Given the description of an element on the screen output the (x, y) to click on. 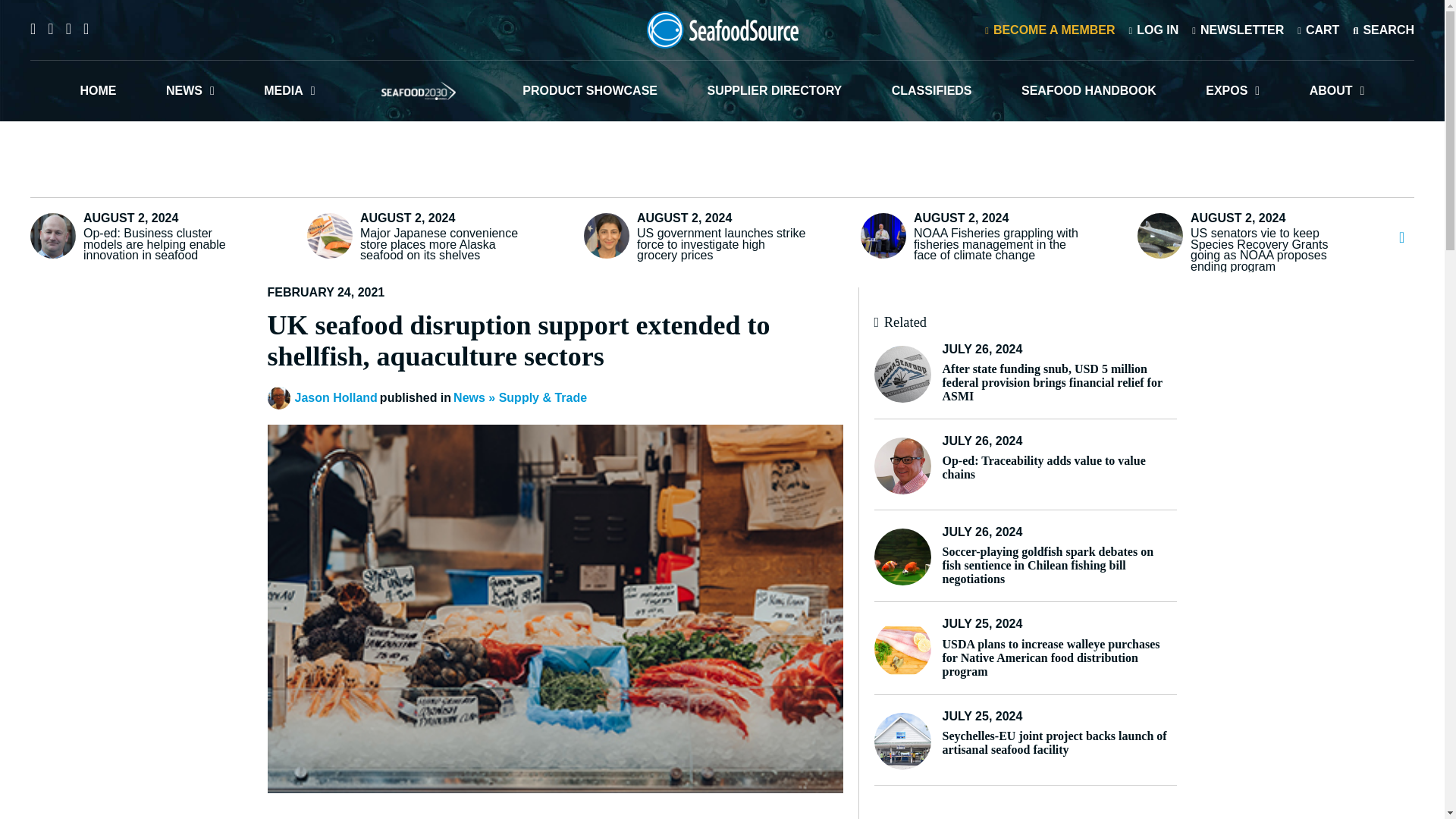
PRODUCT SHOWCASE (590, 90)
LOG IN (1152, 29)
SUPPLIER DIRECTORY (773, 90)
Search SearfoodSource (1382, 29)
SEARCH (1382, 29)
SEAFOOD2030 (419, 90)
CART (1318, 29)
Your cart (1318, 29)
Become a member (1050, 29)
NEWSLETTER (1238, 29)
CLASSIFIEDS (931, 90)
Subscribe to our newsletter (1238, 29)
SEAFOOD HANDBOOK (1089, 90)
